Given the description of an element on the screen output the (x, y) to click on. 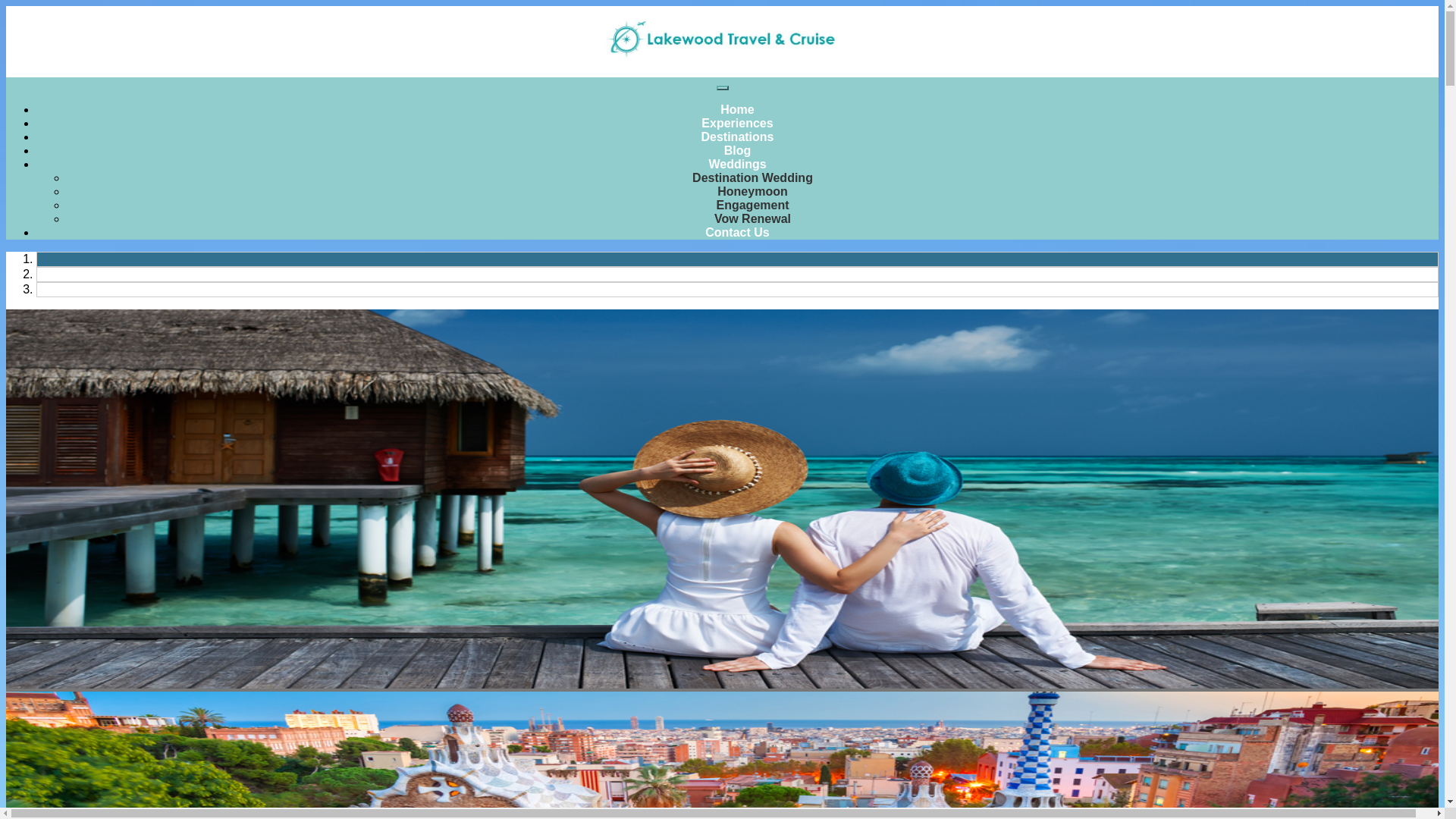
Engagement (752, 205)
Home (737, 109)
Contact Us (736, 232)
Destination Wedding (752, 177)
Vow Renewal (752, 218)
Honeymoon (752, 191)
Destinations (736, 136)
Experiences (737, 123)
Toggle navigation (722, 87)
Blog (737, 150)
